Given the description of an element on the screen output the (x, y) to click on. 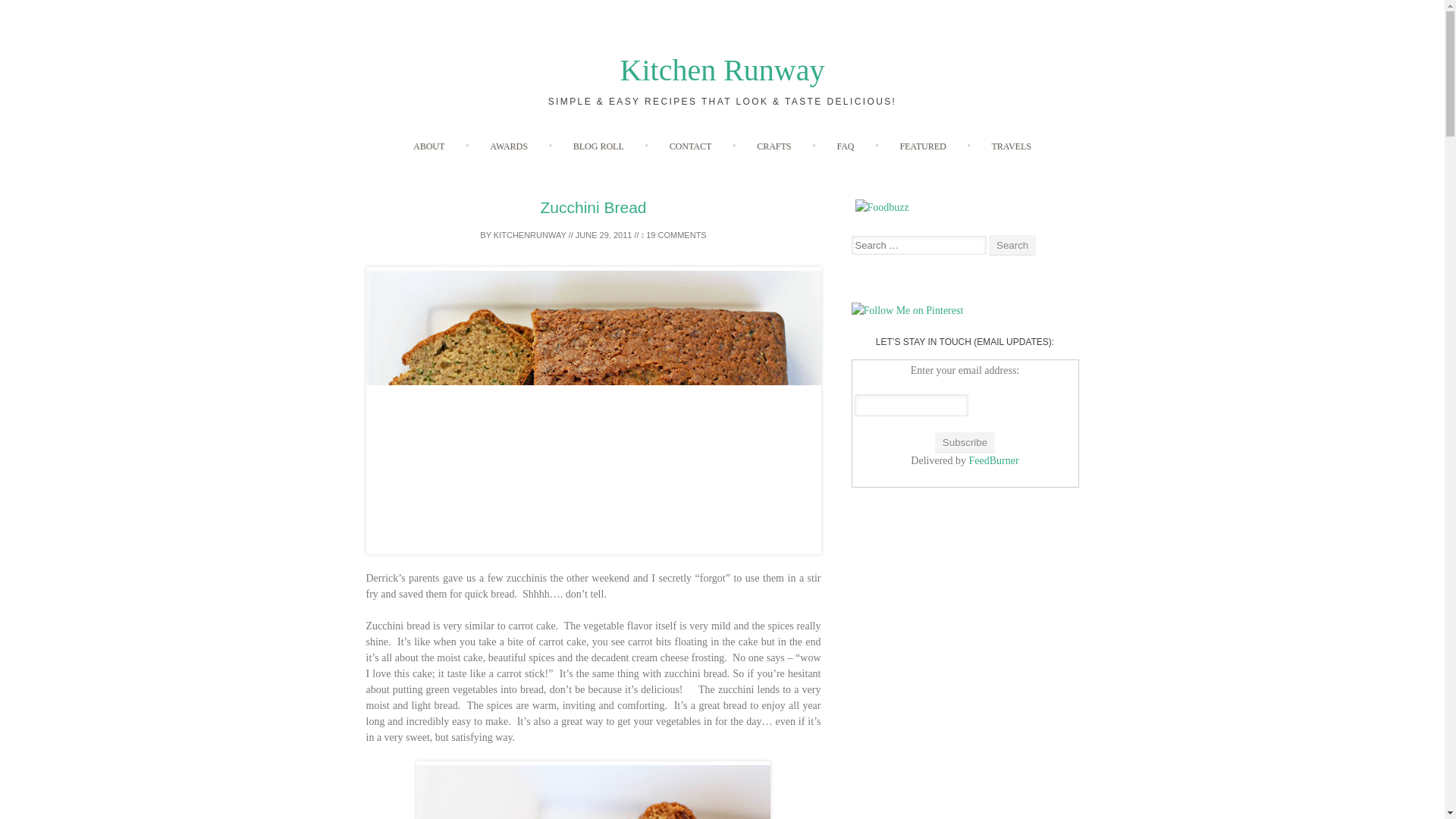
Subscribe (964, 442)
JUNE 29, 2011 (603, 234)
Zucchini Bread (593, 790)
FAQ (845, 145)
AWARDS (508, 145)
19 COMMENTS (674, 234)
Skip to content (754, 136)
Zucchini Bread (593, 410)
CONTACT (690, 145)
11:49 am (603, 234)
Search (1011, 245)
KITCHENRUNWAY (529, 234)
FEATURED (921, 145)
Zucchini Bread (593, 207)
Kitchen Runway (722, 69)
